Given the description of an element on the screen output the (x, y) to click on. 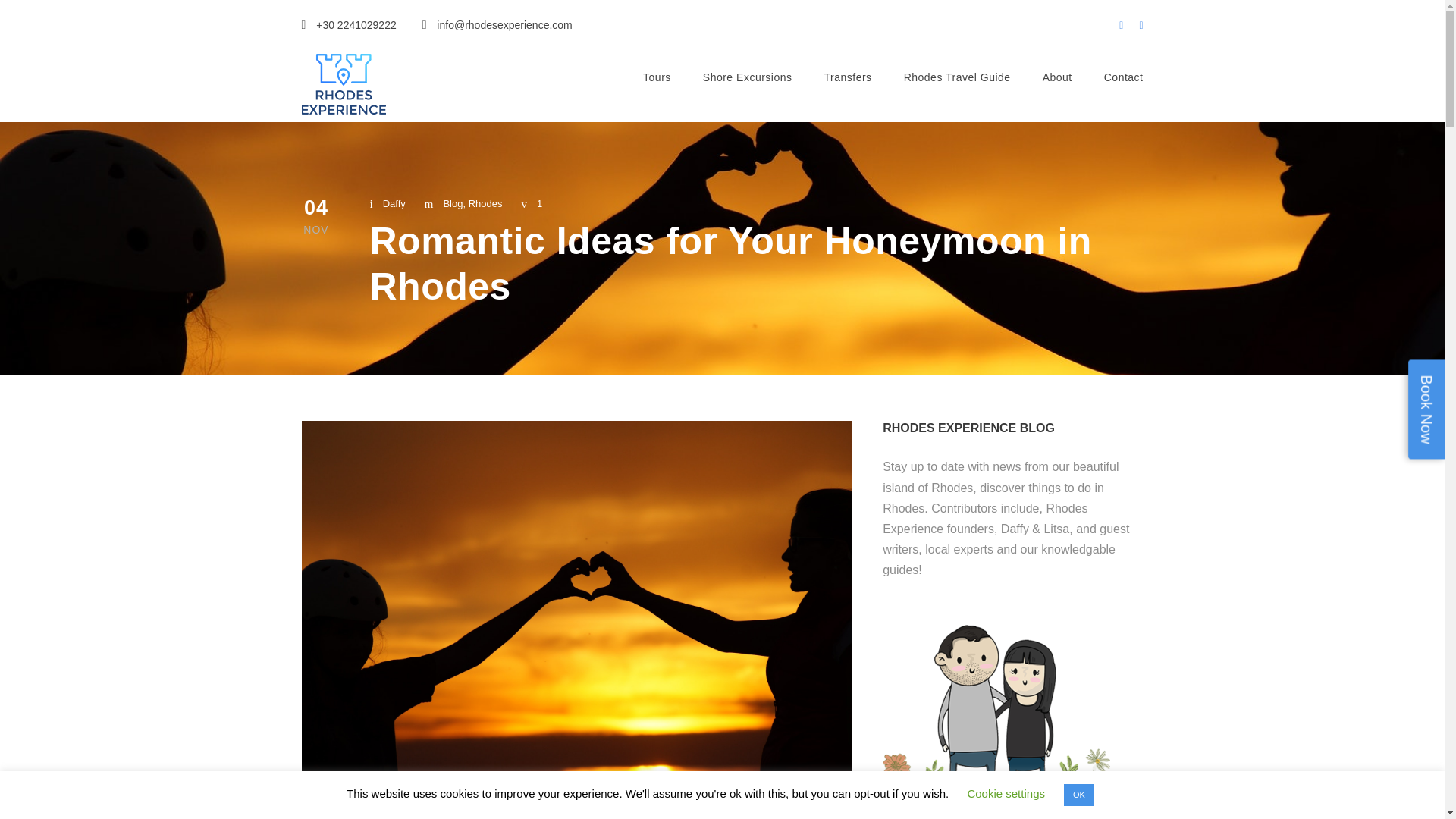
Contact (1122, 90)
Posts by Daffy (394, 203)
Transfers (848, 90)
resmall (343, 84)
Shore Excursions (747, 90)
Blog (452, 203)
Rhodes Travel Guide (957, 90)
Daffy (394, 203)
Rhodes (485, 203)
